Given the description of an element on the screen output the (x, y) to click on. 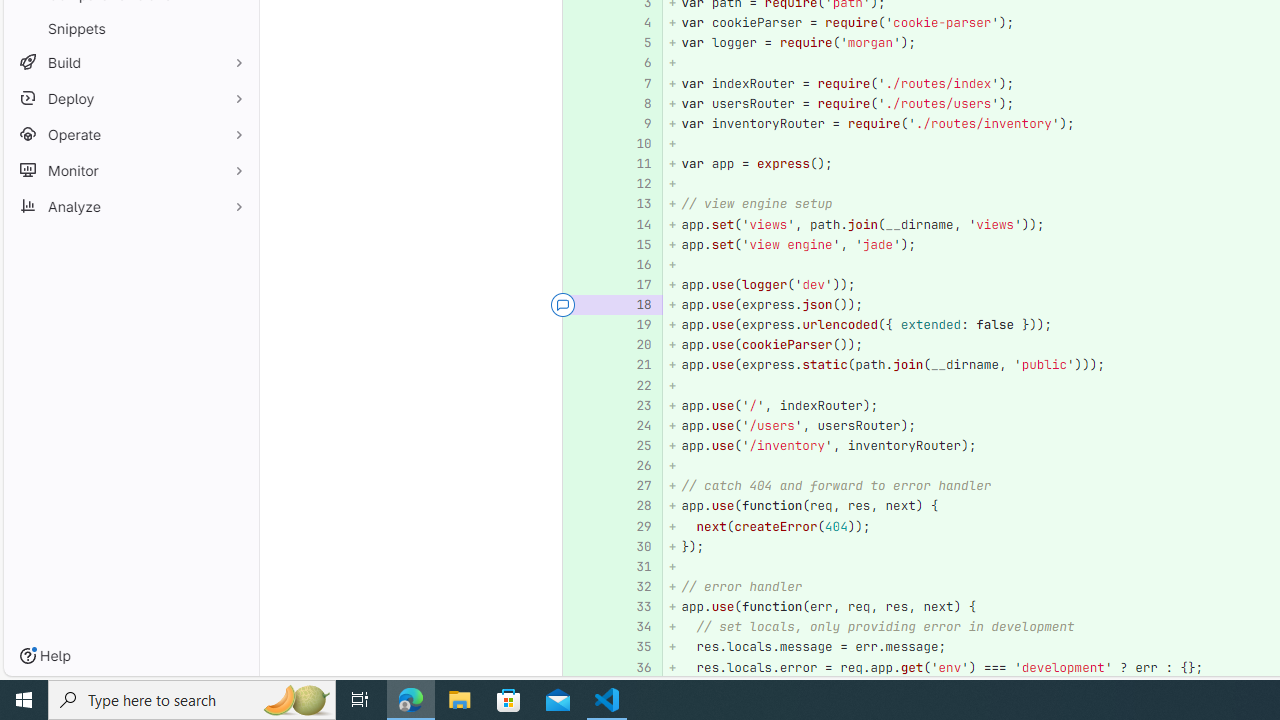
Operate (130, 134)
4 (633, 22)
16 (633, 264)
36 (633, 667)
4 (637, 22)
26 (637, 465)
Add a comment to this line (562, 667)
Class: s12 (562, 666)
35 (633, 647)
33 (633, 606)
Add a comment to this line  (587, 667)
Deploy (130, 98)
Analyze (130, 206)
31 (633, 566)
25 (637, 446)
